Given the description of an element on the screen output the (x, y) to click on. 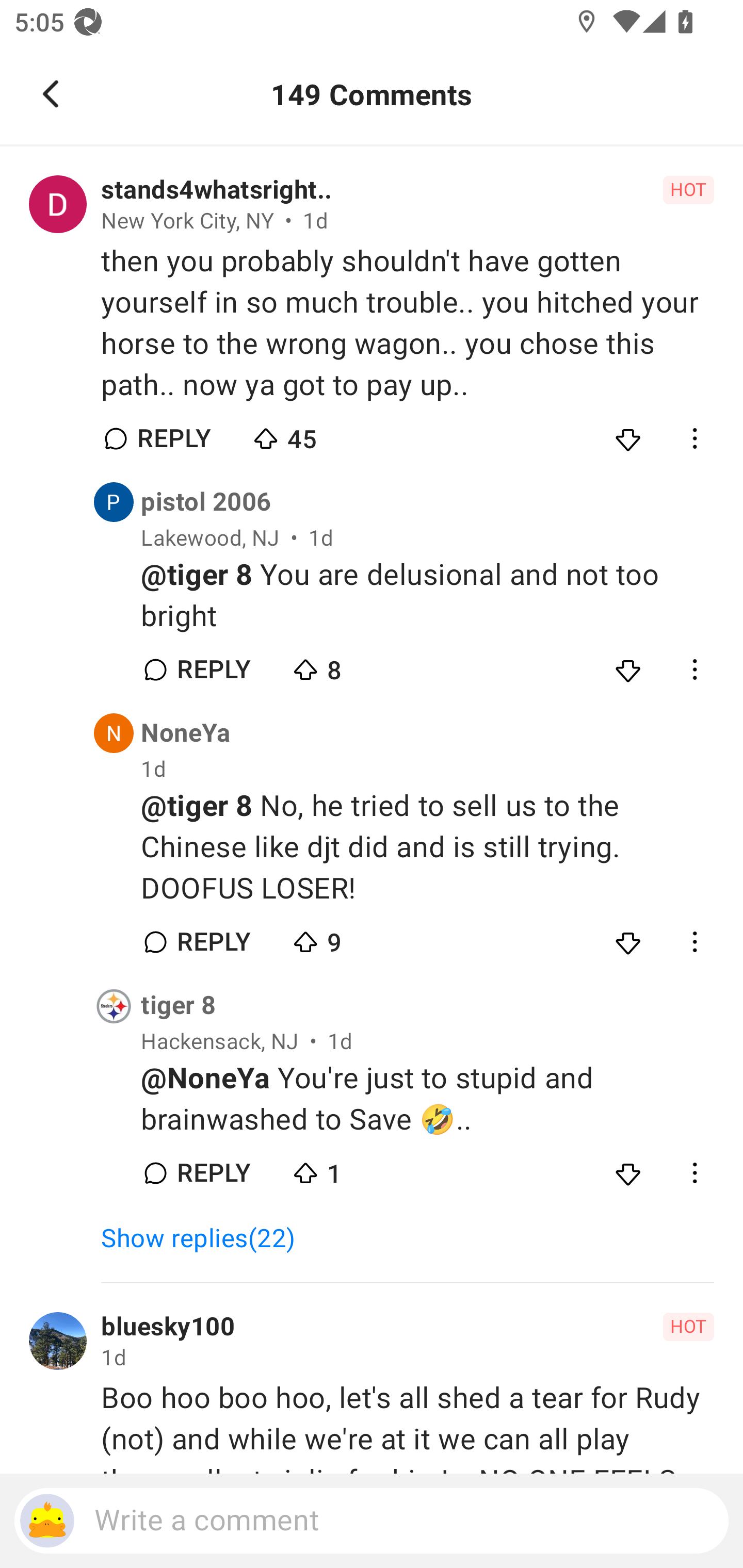
Navigate up (50, 93)
stands4whatsright.. (216, 190)
45 (320, 433)
REPLY (173, 438)
pistol 2006 (206, 502)
@tiger 8 You are delusional and not too bright  (427, 595)
8 (360, 665)
REPLY (213, 670)
NoneYa (185, 732)
9 (360, 937)
REPLY (213, 941)
tiger 8 (178, 1005)
1 (360, 1168)
REPLY (213, 1173)
Show replies(22) (207, 1238)
bluesky100 (167, 1327)
Write a comment (371, 1520)
